Given the description of an element on the screen output the (x, y) to click on. 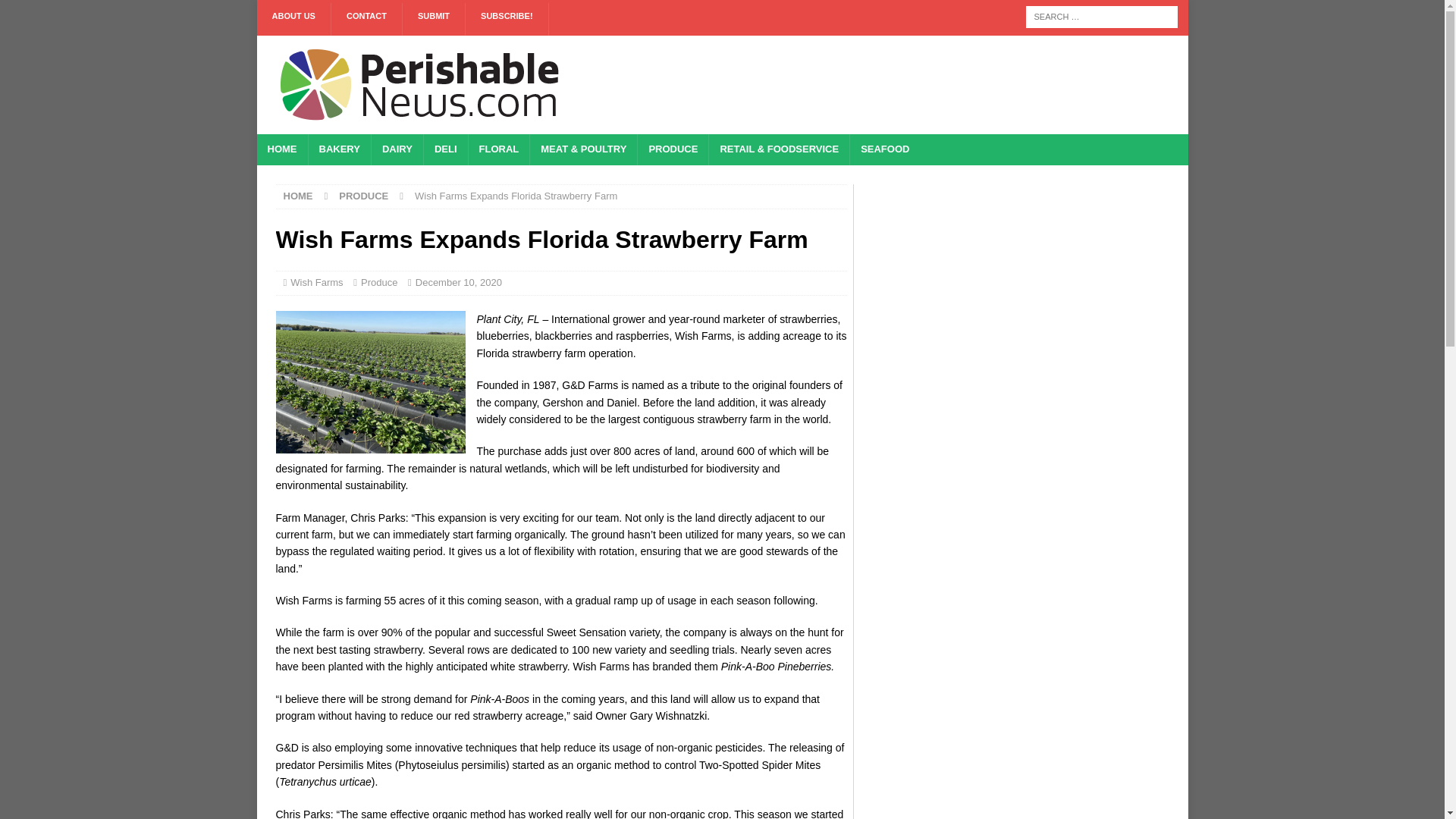
SUBMIT (434, 19)
SUBSCRIBE! (506, 19)
PRODUCE (363, 195)
Wish Farms (315, 282)
p3-4 (370, 382)
PRODUCE (672, 149)
BAKERY (339, 149)
3rd party ad content (890, 84)
ABOUT US (293, 19)
December 10, 2020 (458, 282)
